Given the description of an element on the screen output the (x, y) to click on. 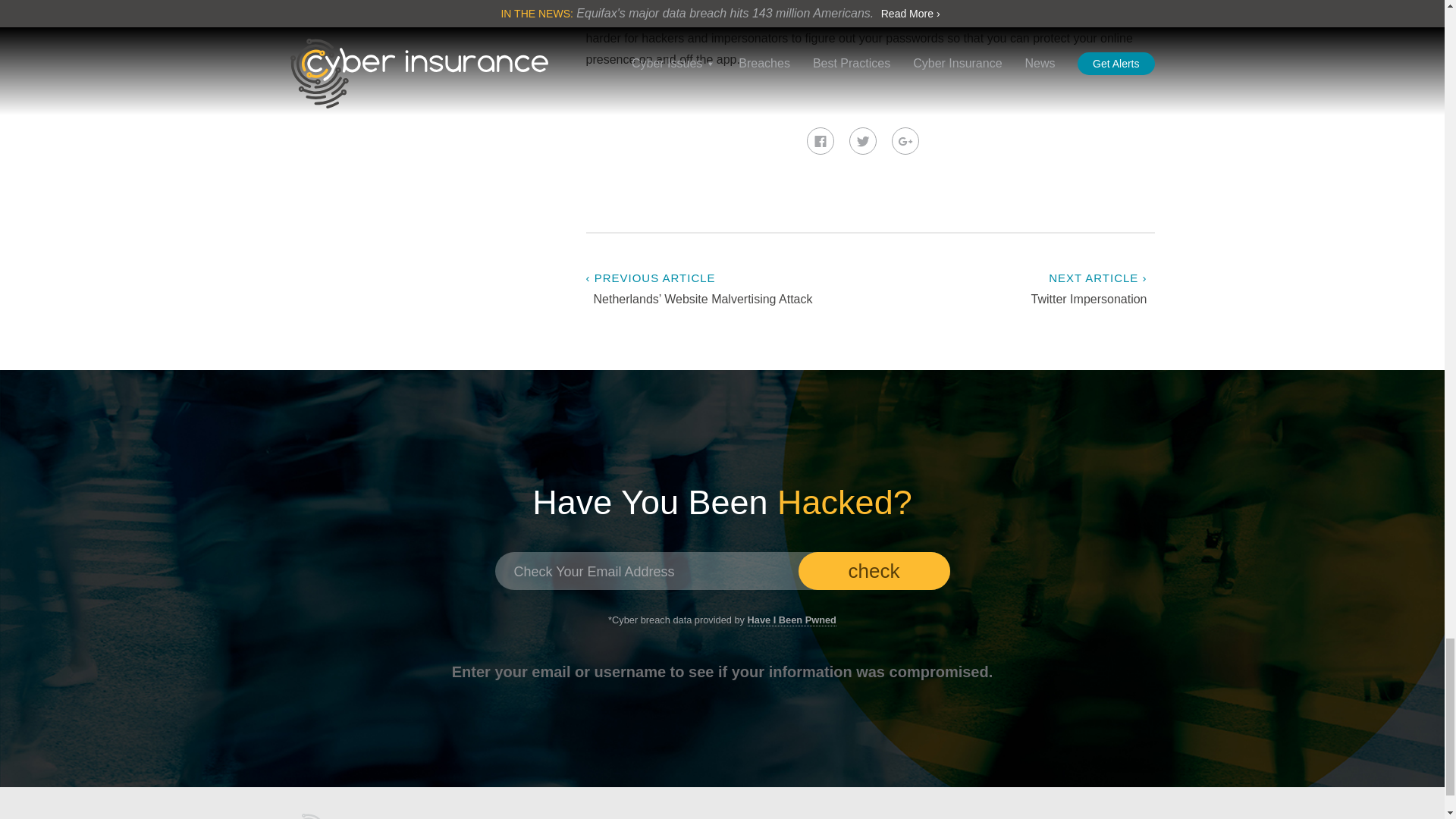
check (873, 570)
